Given the description of an element on the screen output the (x, y) to click on. 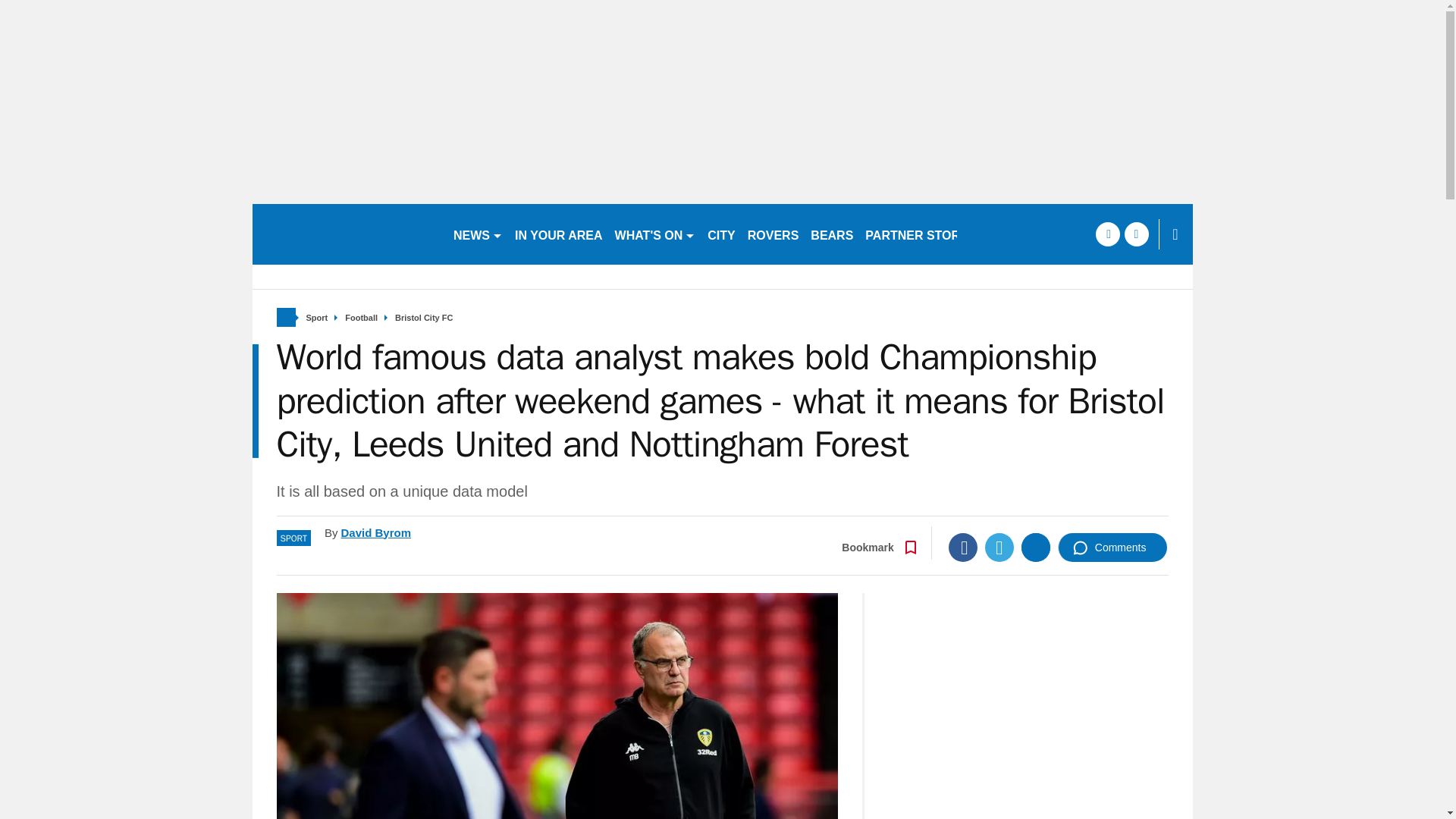
Facebook (962, 547)
PARTNER STORIES (922, 233)
Twitter (999, 547)
NEWS (477, 233)
Comments (1112, 547)
IN YOUR AREA (558, 233)
WHAT'S ON (654, 233)
twitter (1136, 233)
bristolpost (345, 233)
facebook (1106, 233)
